Given the description of an element on the screen output the (x, y) to click on. 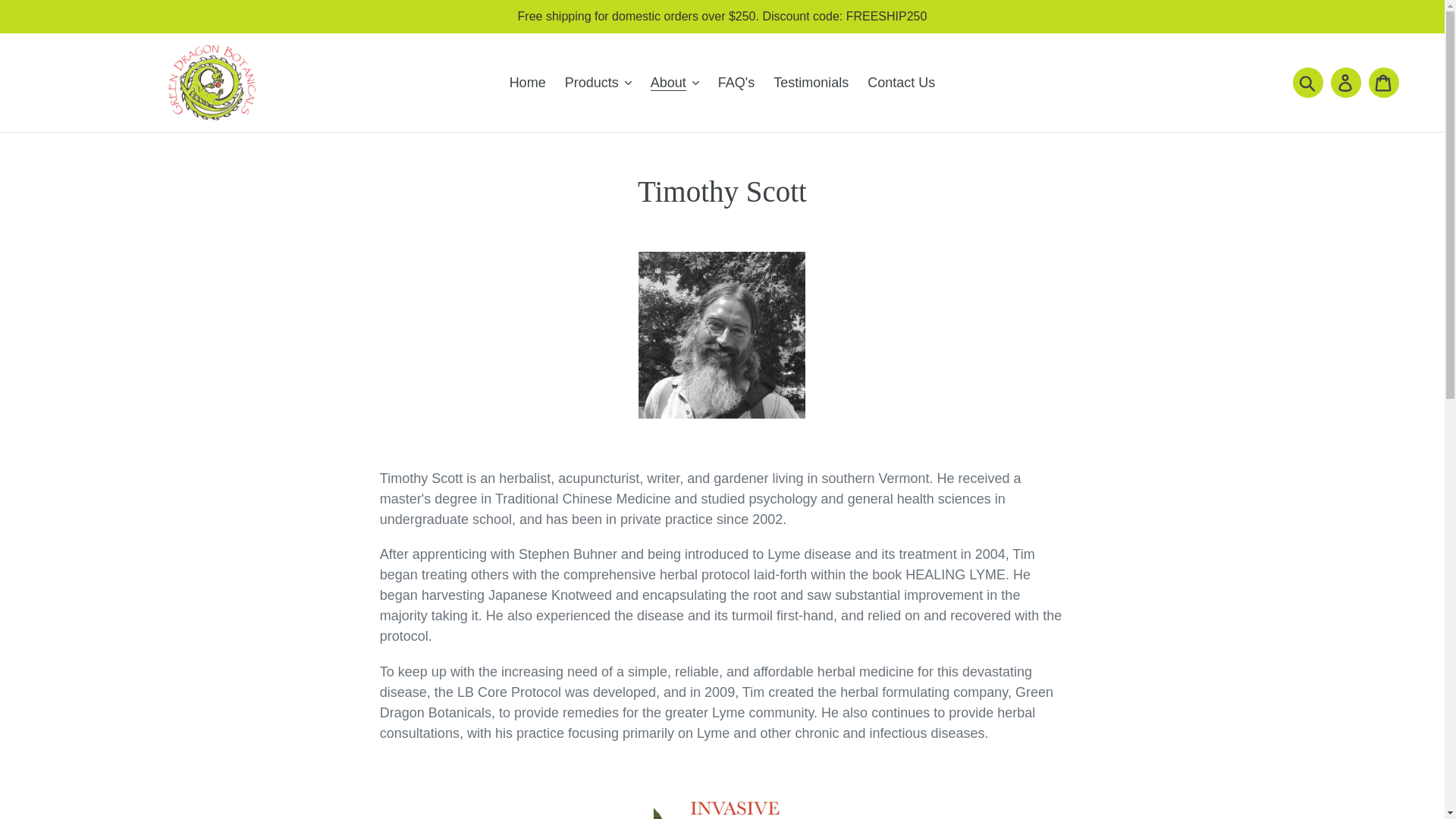
Log in (1345, 82)
Cart (1383, 82)
FAQ's (735, 82)
Testimonials (810, 82)
Contact Us (901, 82)
Home (527, 82)
Search (1307, 82)
